Given the description of an element on the screen output the (x, y) to click on. 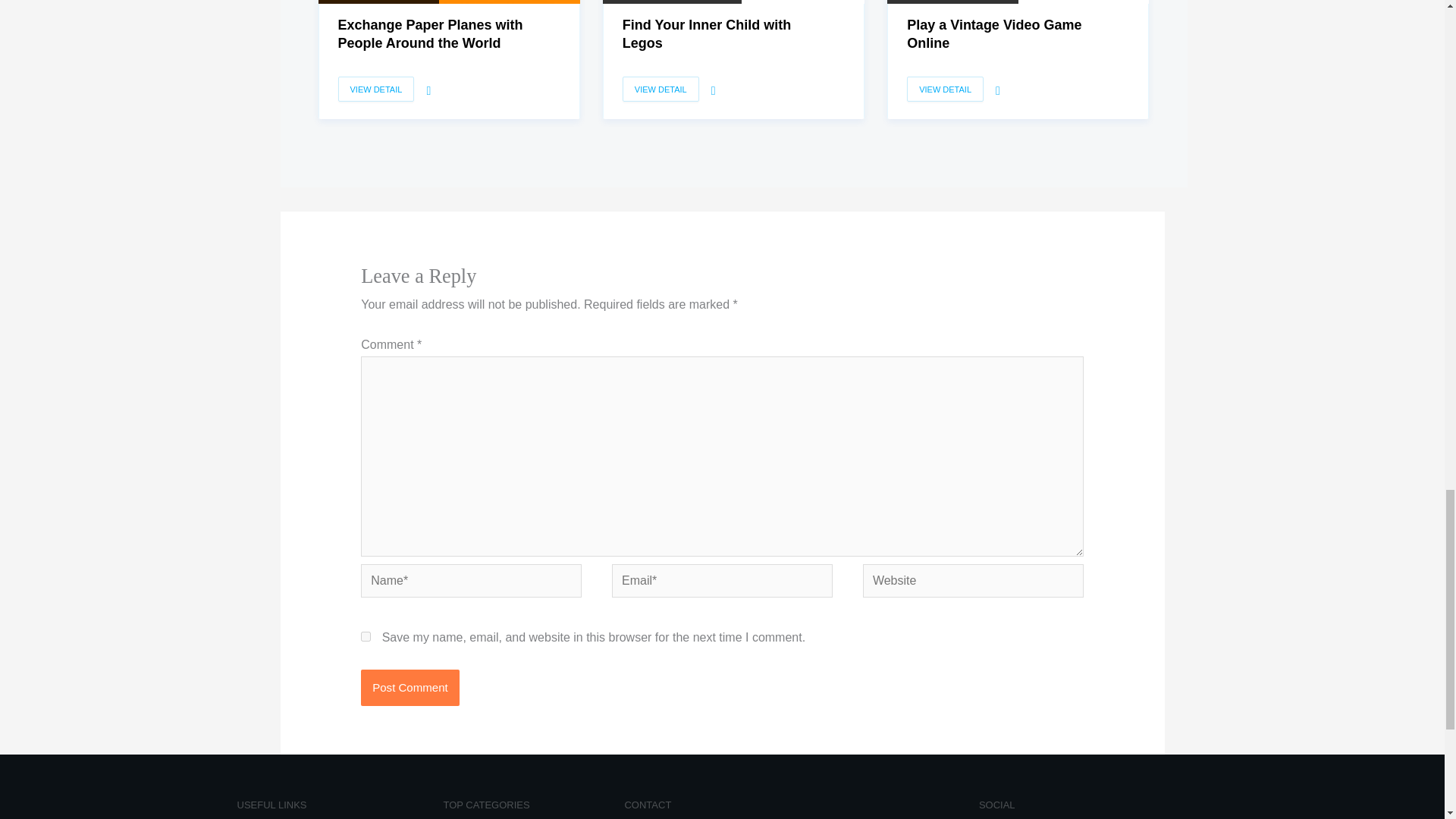
Post Comment (410, 687)
yes (366, 636)
